Given the description of an element on the screen output the (x, y) to click on. 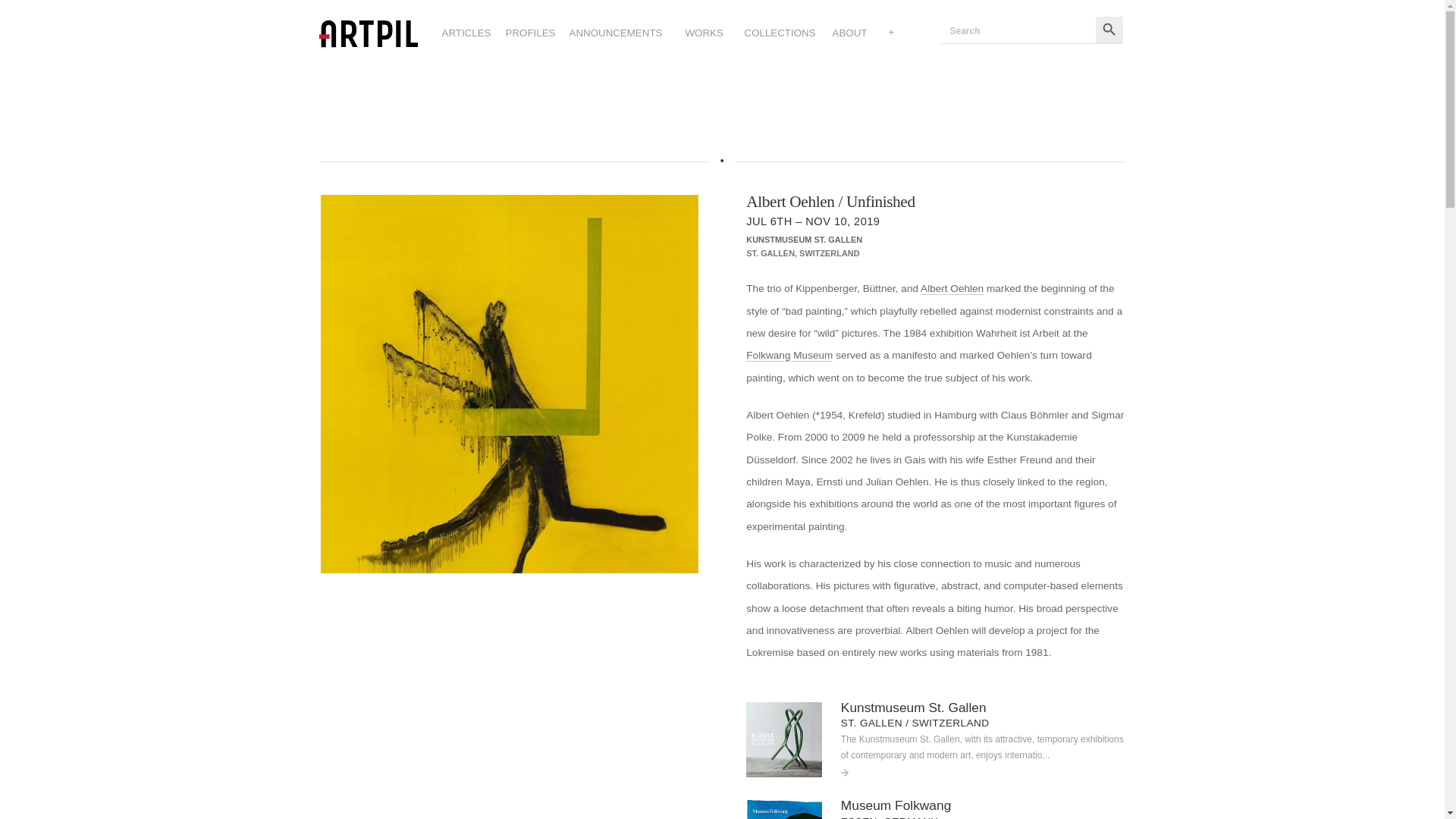
WORKS (704, 32)
PROFILES (529, 32)
ANNOUNCEMENTS (615, 32)
Search Button (1108, 30)
ABOUT (849, 32)
COLLECTIONS (779, 32)
ARTICLES (465, 32)
